Given the description of an element on the screen output the (x, y) to click on. 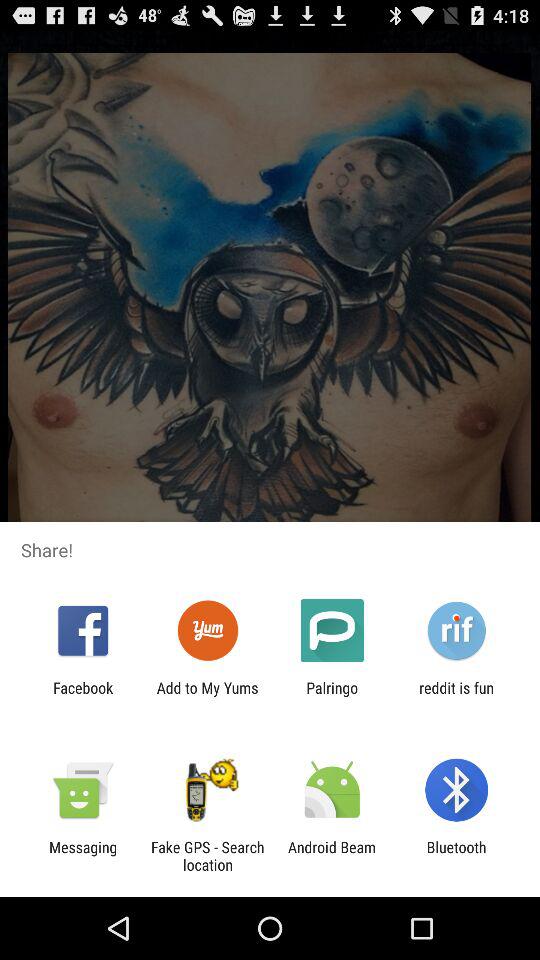
turn off the icon to the left of the palringo icon (207, 696)
